Given the description of an element on the screen output the (x, y) to click on. 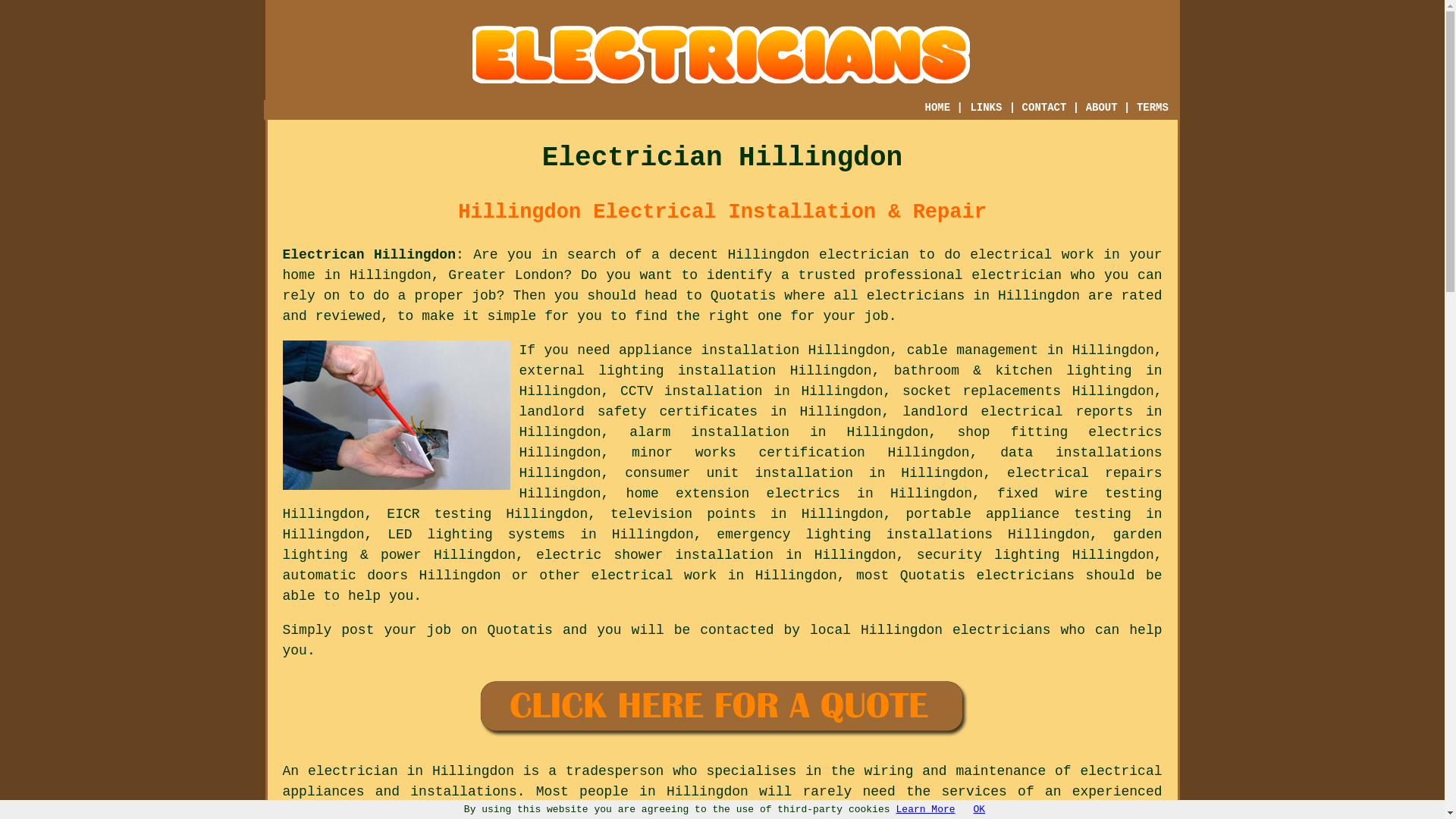
Electrician Hillingdon (721, 55)
Electrican Hillingdon - Electrican Services Hillingdon (395, 414)
LINKS (986, 107)
Electrician Quotes in Hillingdon Greater London (722, 707)
HOME (937, 107)
Electrican Hillingdon (368, 254)
